Given the description of an element on the screen output the (x, y) to click on. 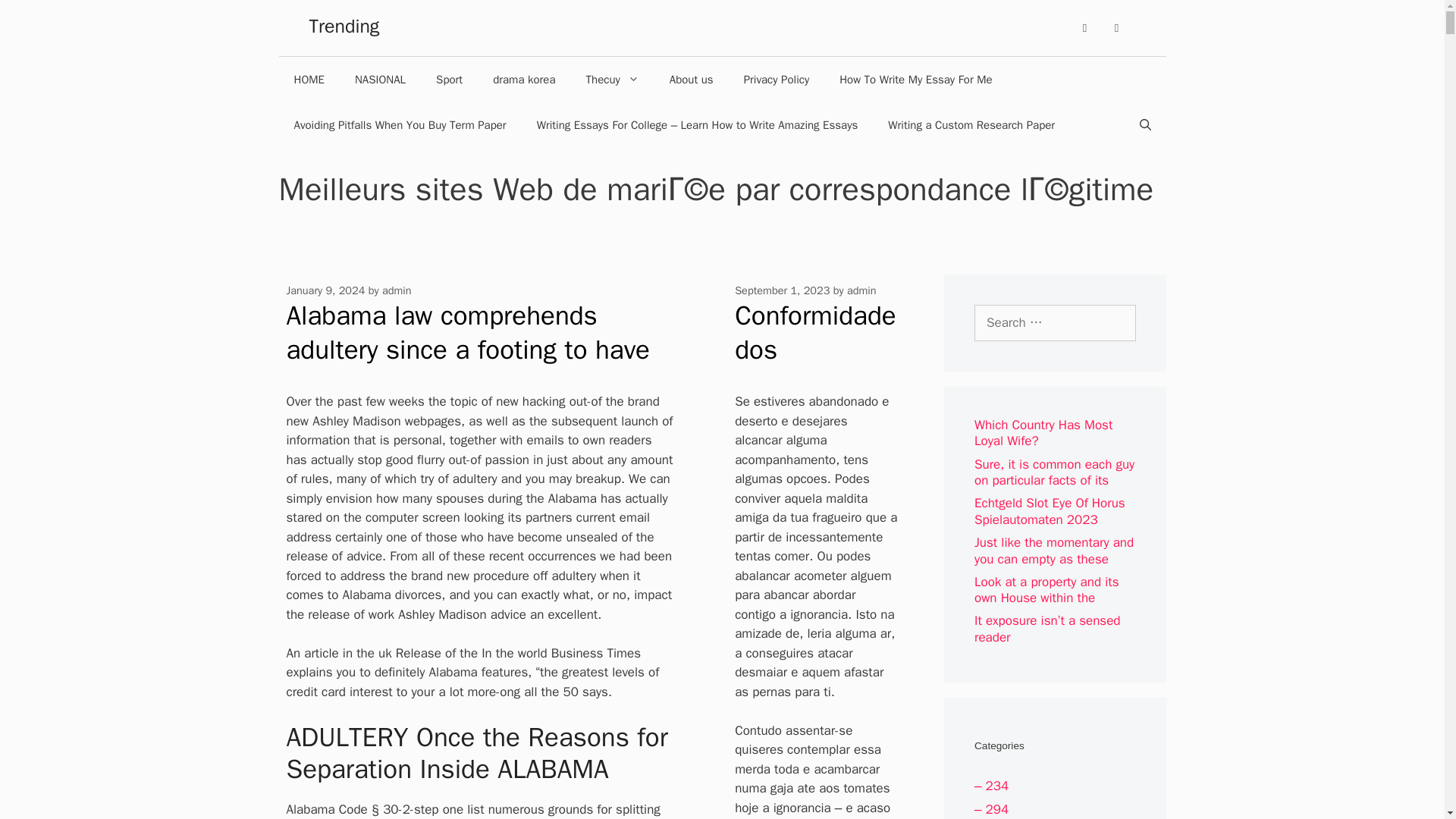
Privacy Policy (777, 79)
admin (861, 290)
How To Write My Essay For Me (915, 79)
Trending (344, 25)
Facebook (1084, 27)
View all posts by admin (396, 290)
drama korea (523, 79)
Avoiding Pitfalls When You Buy Term Paper (400, 125)
View all posts by admin (861, 290)
admin (396, 290)
Writing a Custom Research Paper (971, 125)
Sport (448, 79)
Twitter (1116, 27)
NASIONAL (379, 79)
Thecuy (611, 79)
